Given the description of an element on the screen output the (x, y) to click on. 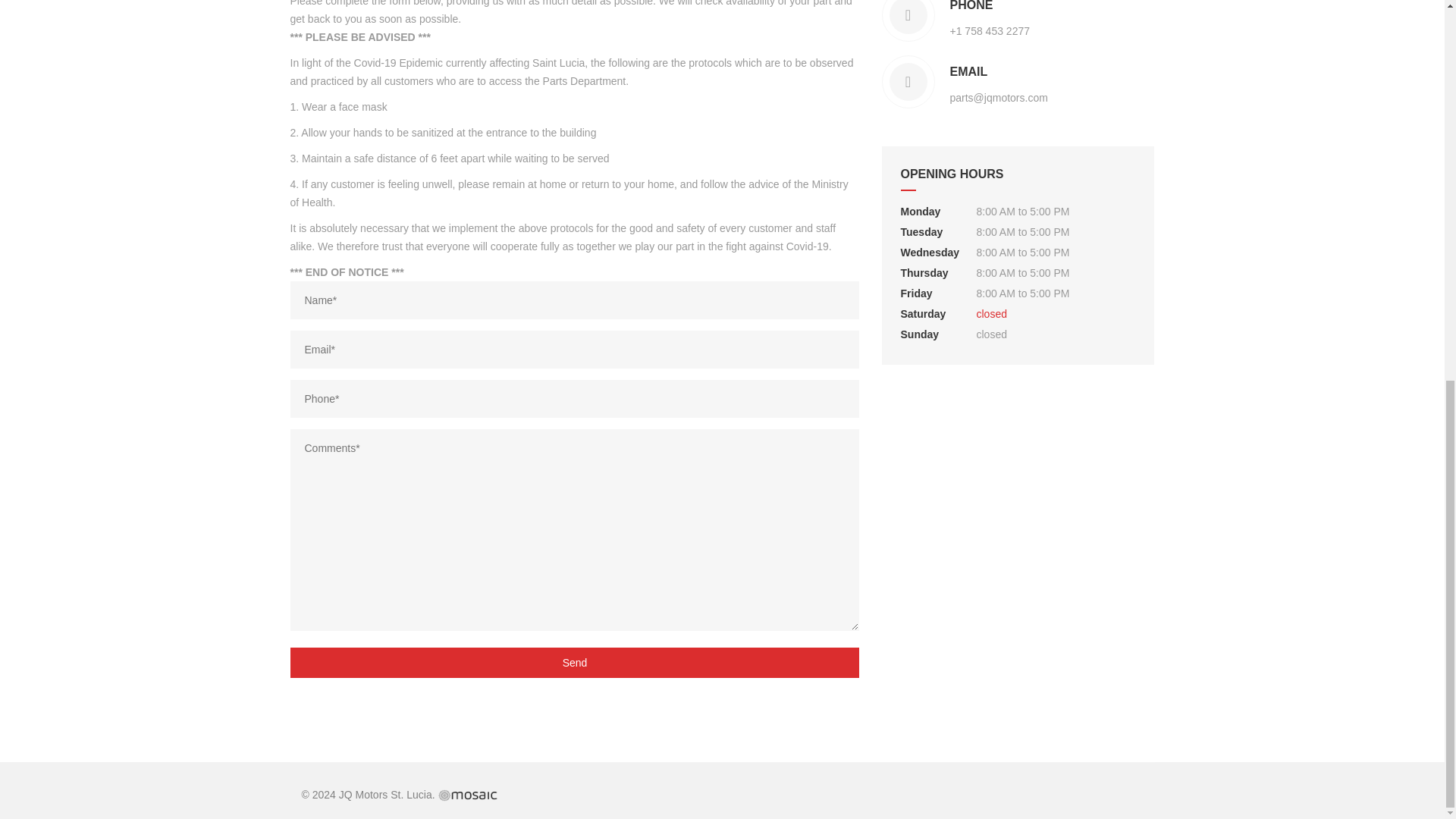
PHONE (989, 7)
Website Design by Mosaic (467, 794)
Send (574, 662)
Website Design by Mosaic (467, 795)
Send (574, 662)
JQ Motors St. Lucia (385, 794)
EMAIL (997, 72)
